Given the description of an element on the screen output the (x, y) to click on. 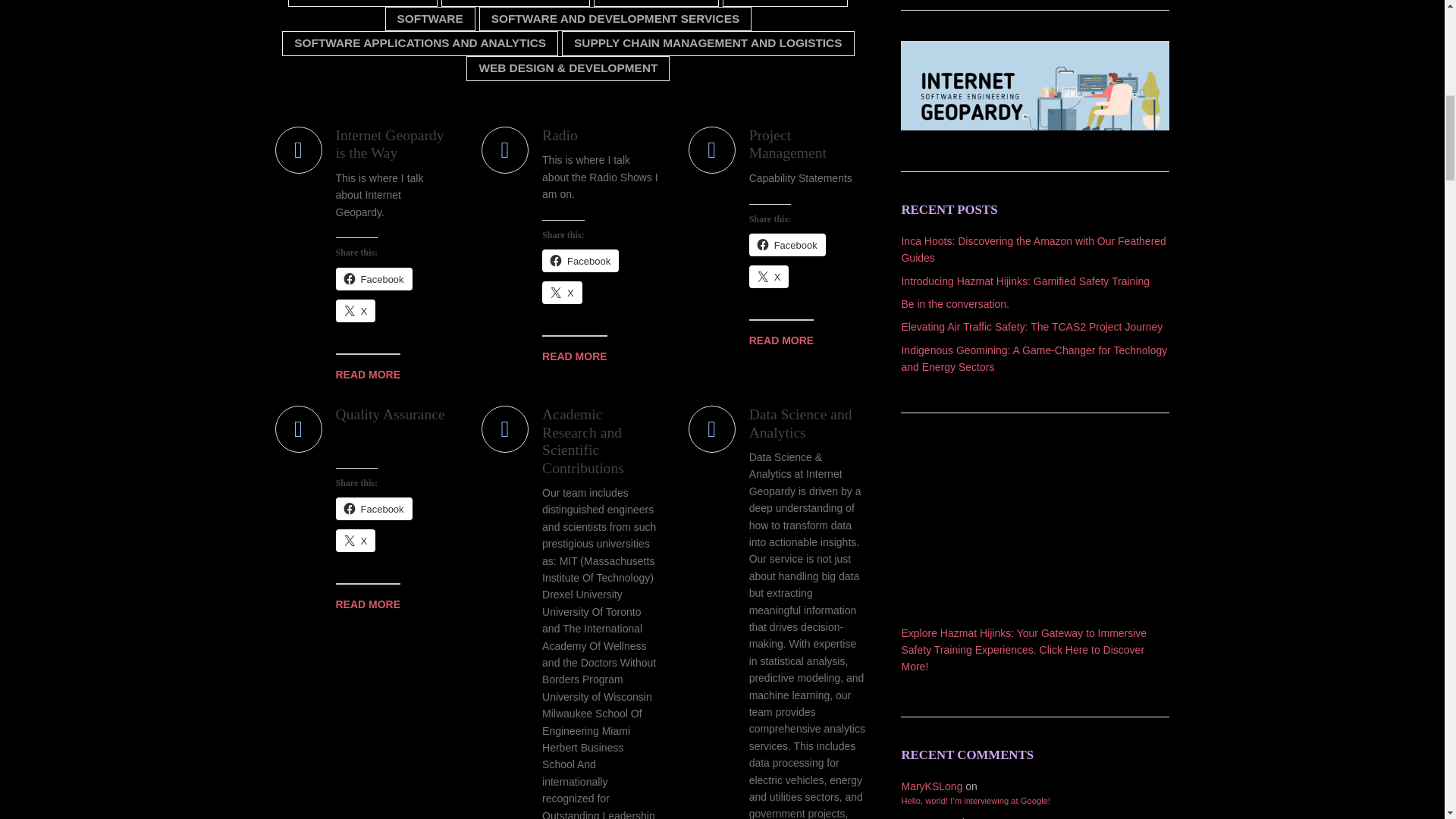
Click to share on Facebook (579, 260)
Click to share on X (769, 276)
Click to share on X (354, 310)
Click to share on Facebook (373, 278)
Click to share on X (561, 292)
Click to share on Facebook (787, 244)
